Given the description of an element on the screen output the (x, y) to click on. 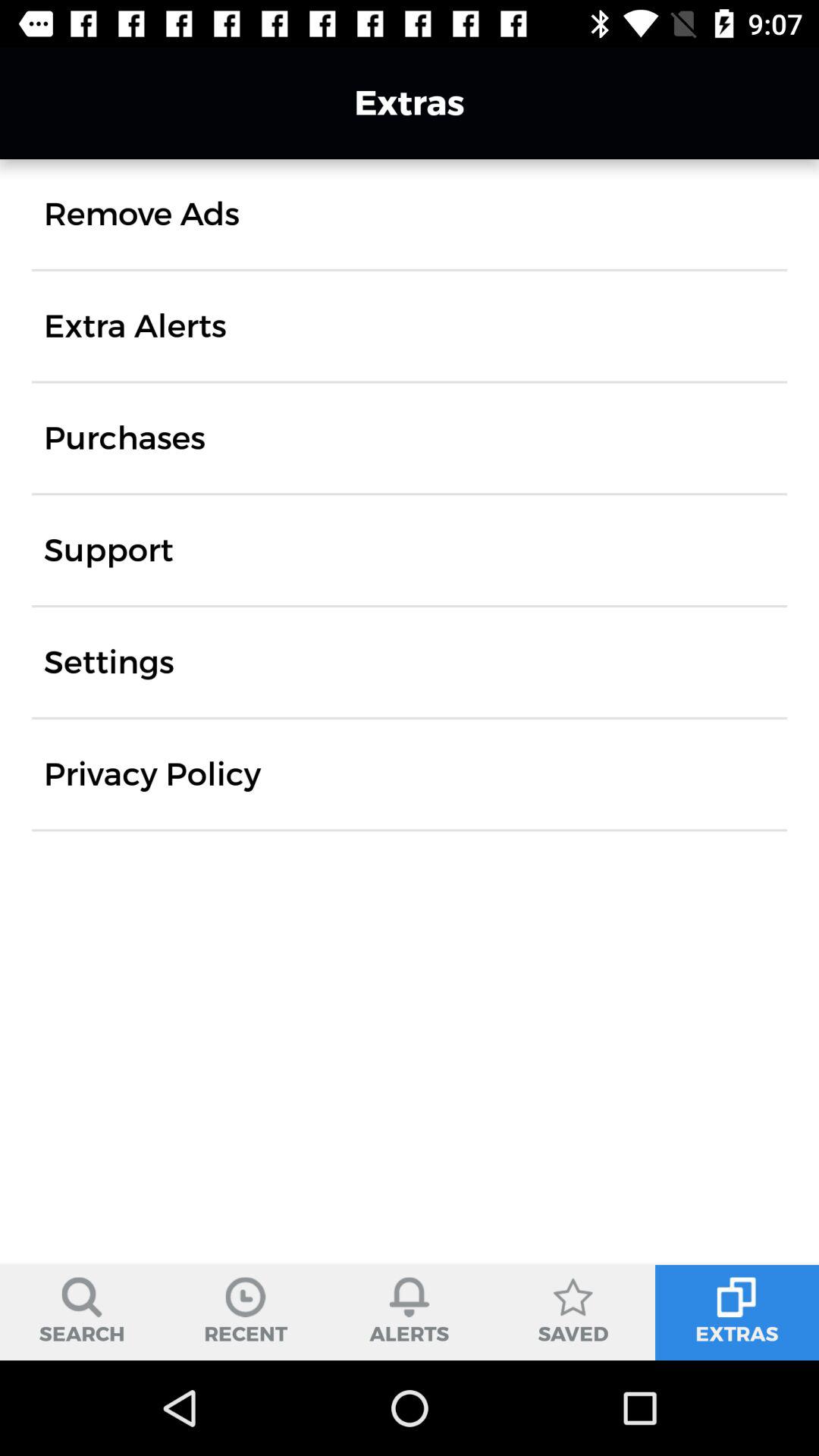
turn on the settings icon (108, 662)
